Given the description of an element on the screen output the (x, y) to click on. 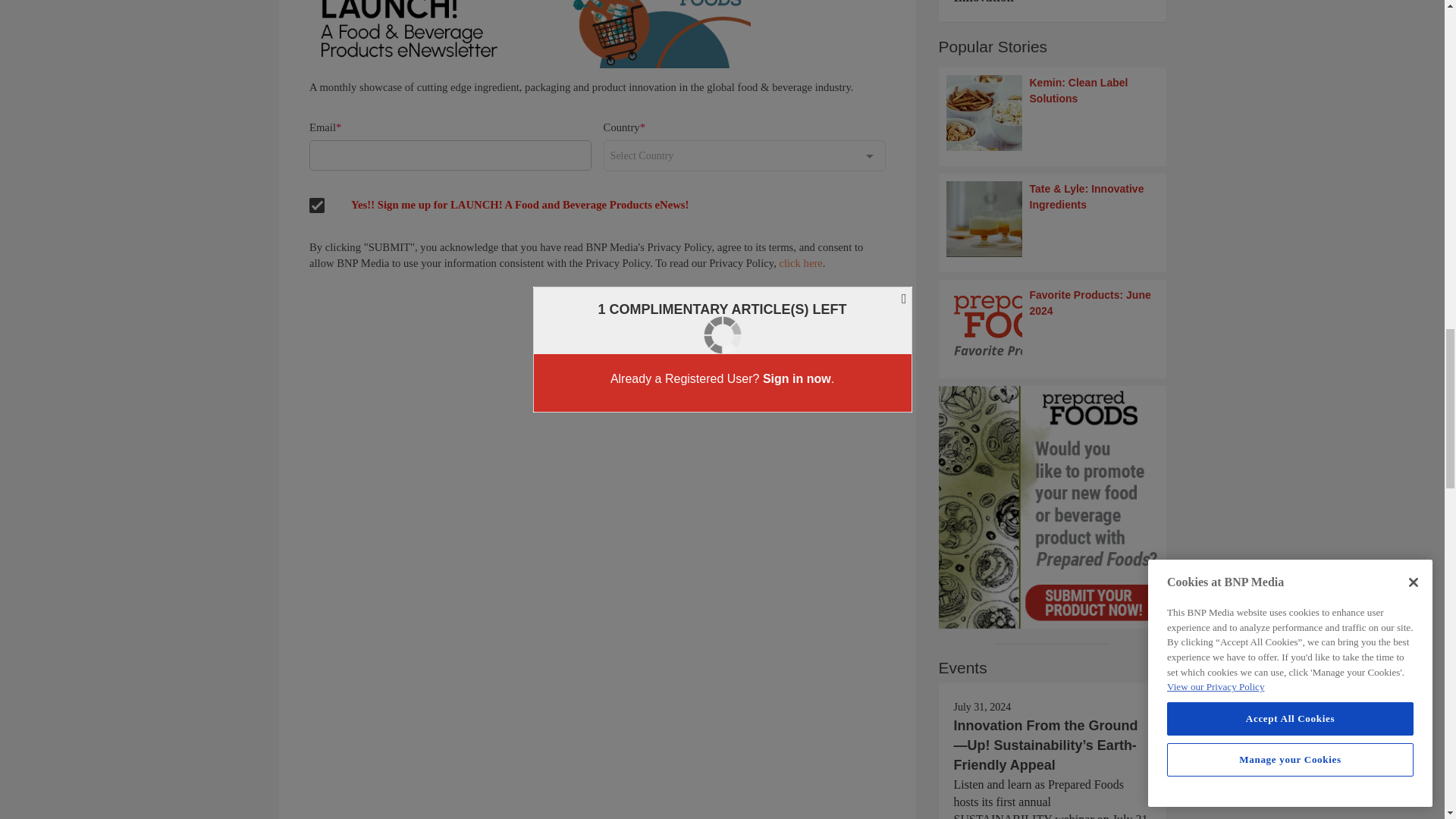
Kemin: Clean Label Solutions (1052, 112)
Favorite Products: June 2024 (1052, 325)
